Given the description of an element on the screen output the (x, y) to click on. 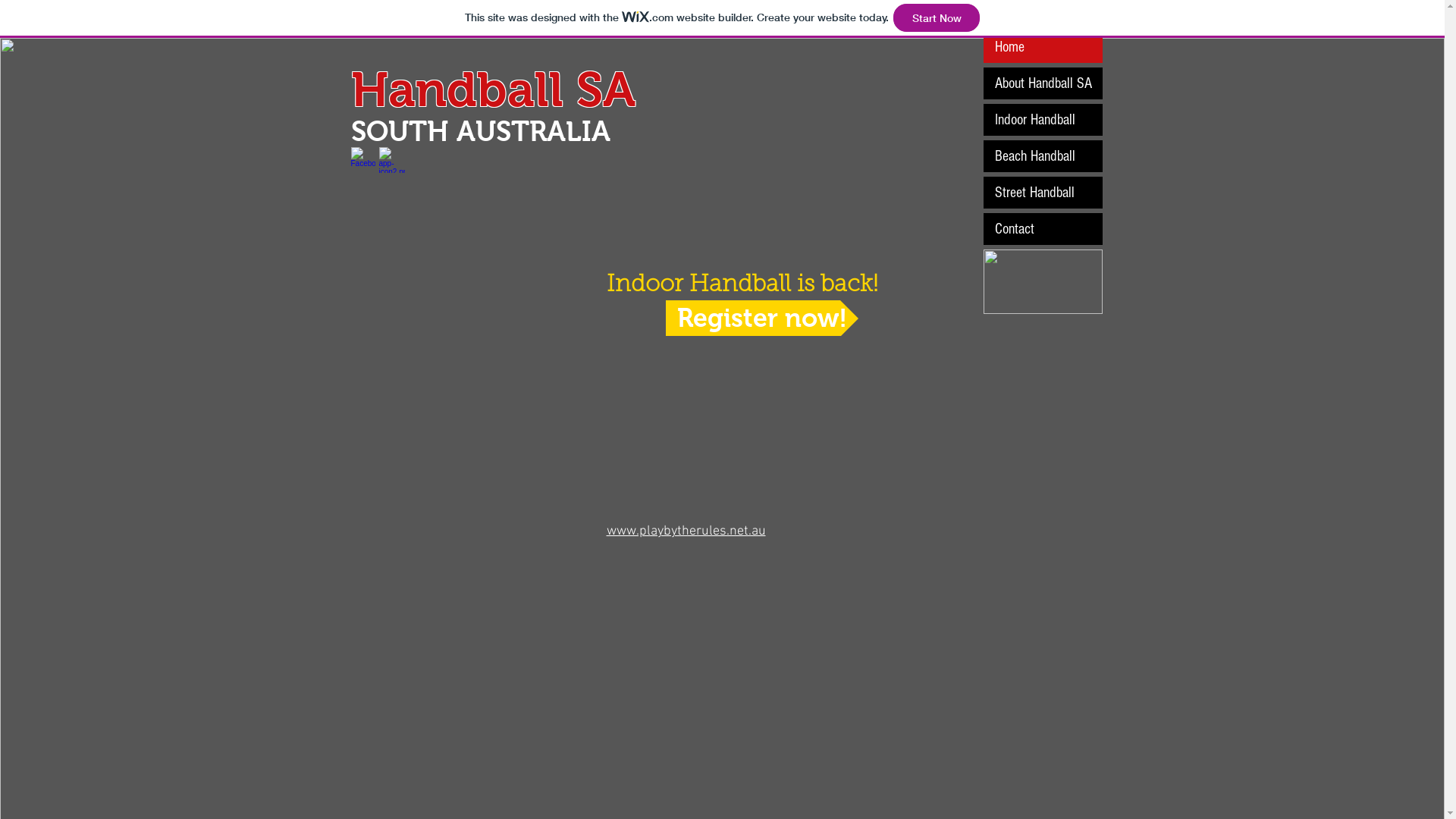
Register now! Element type: text (761, 317)
About Handball SA Element type: text (1041, 83)
Home Element type: text (1041, 46)
Beach Handball Element type: text (1041, 156)
Handball SA Element type: text (492, 89)
www.playbytherules.net.au Element type: text (685, 531)
Street Handball Element type: text (1041, 192)
Indoor Handball Element type: text (1041, 119)
Contact Element type: text (1041, 228)
